Given the description of an element on the screen output the (x, y) to click on. 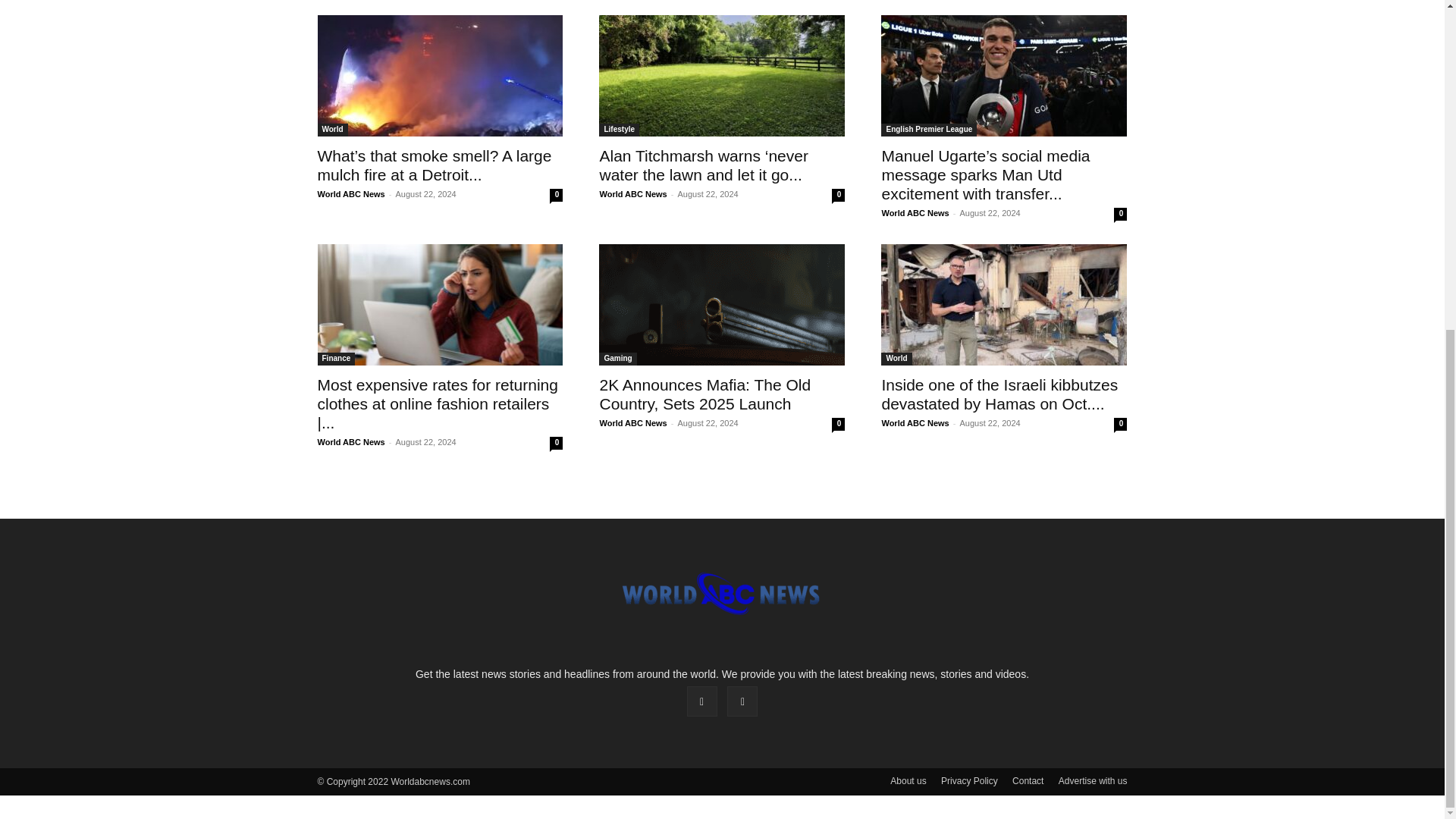
0 (837, 195)
World ABC News (632, 194)
World (332, 129)
0 (556, 195)
World ABC News (350, 194)
Lifestyle (618, 129)
